Given the description of an element on the screen output the (x, y) to click on. 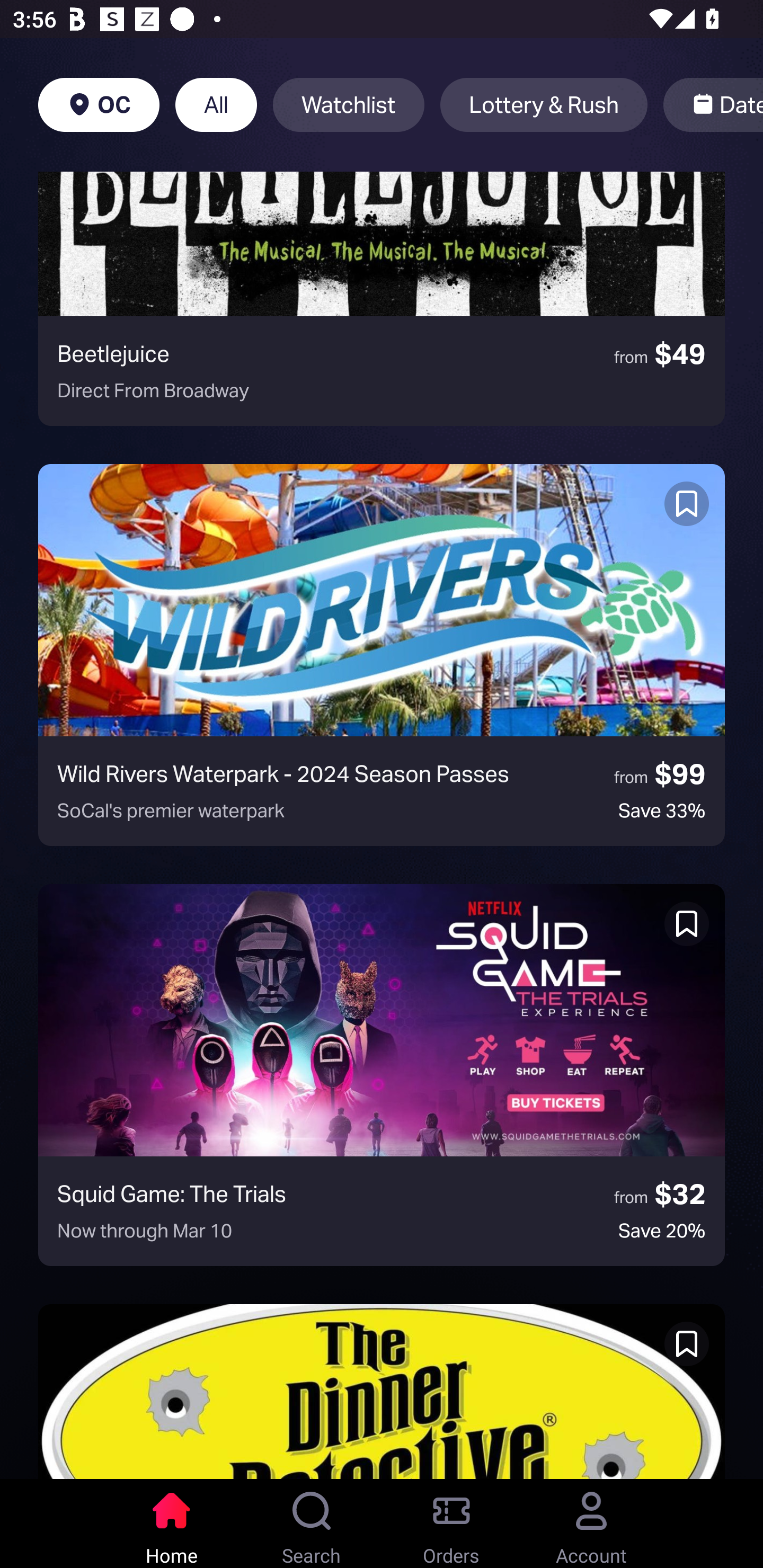
OC (98, 104)
All (216, 104)
Watchlist (348, 104)
Lottery & Rush (543, 104)
Beetlejuice from $49 Direct From Broadway (381, 298)
Search (311, 1523)
Orders (451, 1523)
Account (591, 1523)
